Given the description of an element on the screen output the (x, y) to click on. 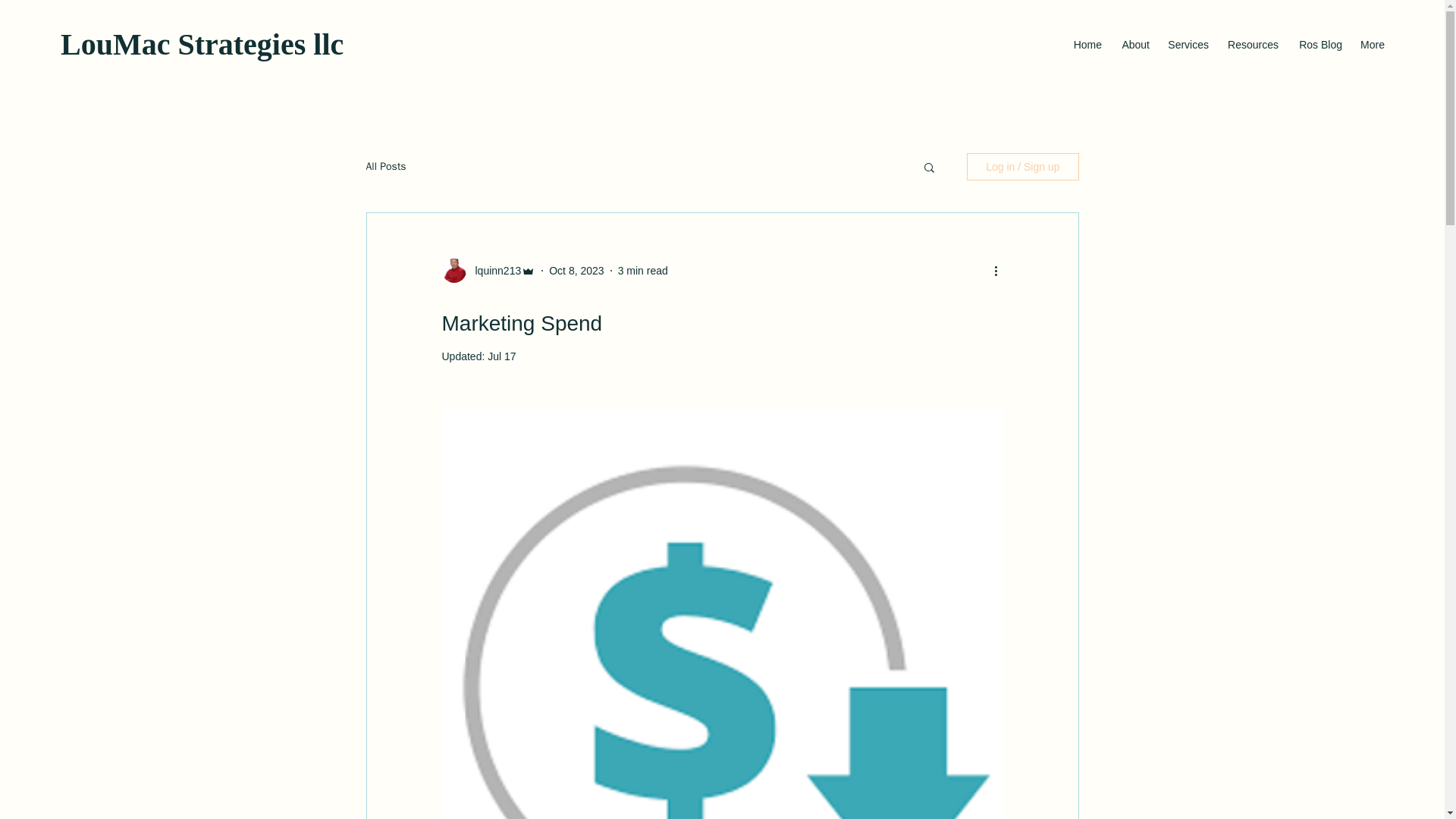
About (1133, 44)
Oct 8, 2023 (576, 269)
lquinn213 (493, 270)
Home (1085, 44)
Resources (1250, 44)
Services (1186, 44)
Jul 17 (501, 356)
All Posts (385, 166)
Ros Blog (1317, 44)
LouMac Strategies llc (202, 44)
3 min read (642, 269)
